Given the description of an element on the screen output the (x, y) to click on. 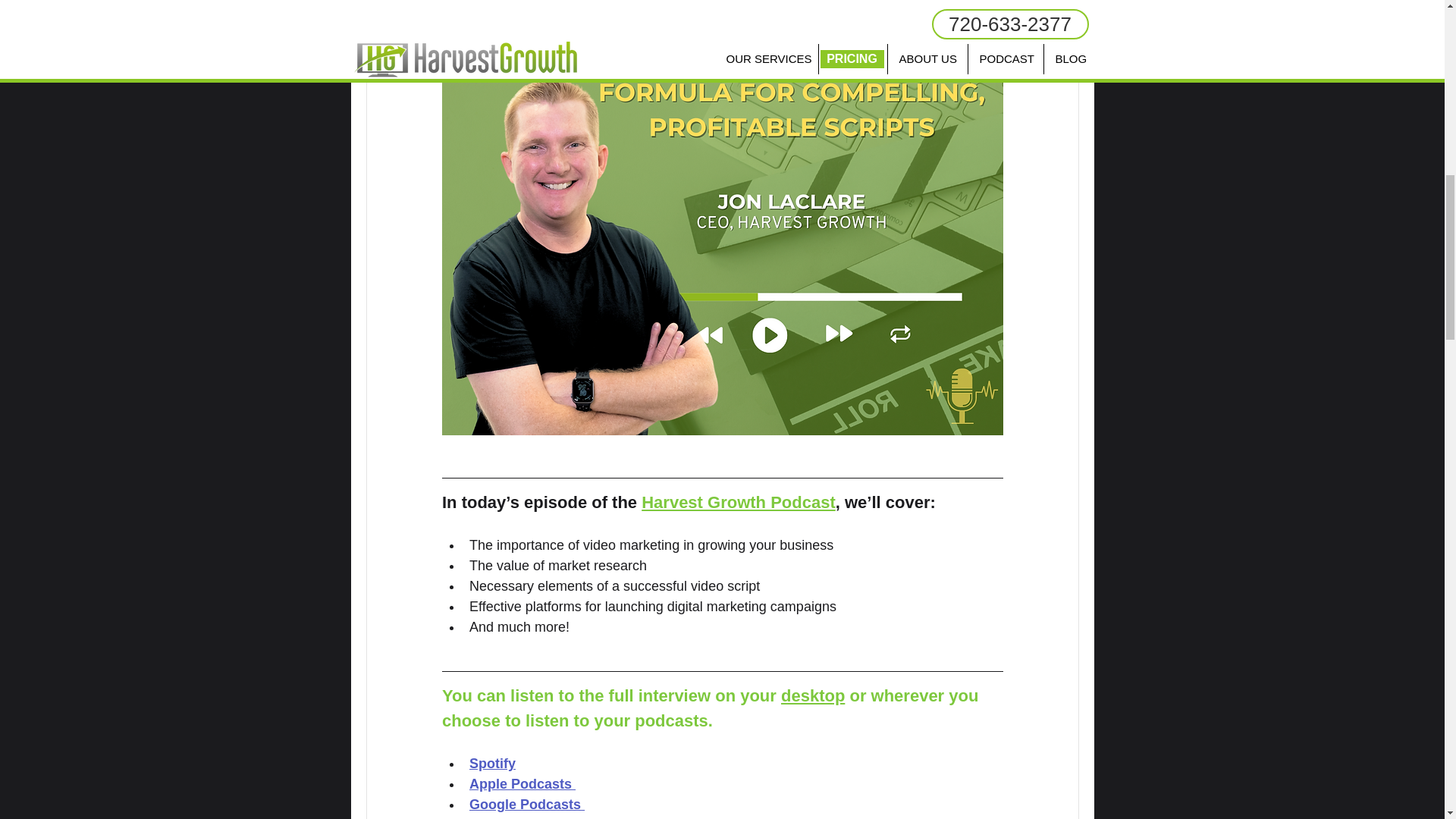
Apple Podcasts (519, 783)
desktop (812, 695)
Spotify (491, 763)
Google Podcasts (523, 804)
Harvest Growth Podcast (738, 502)
